Given the description of an element on the screen output the (x, y) to click on. 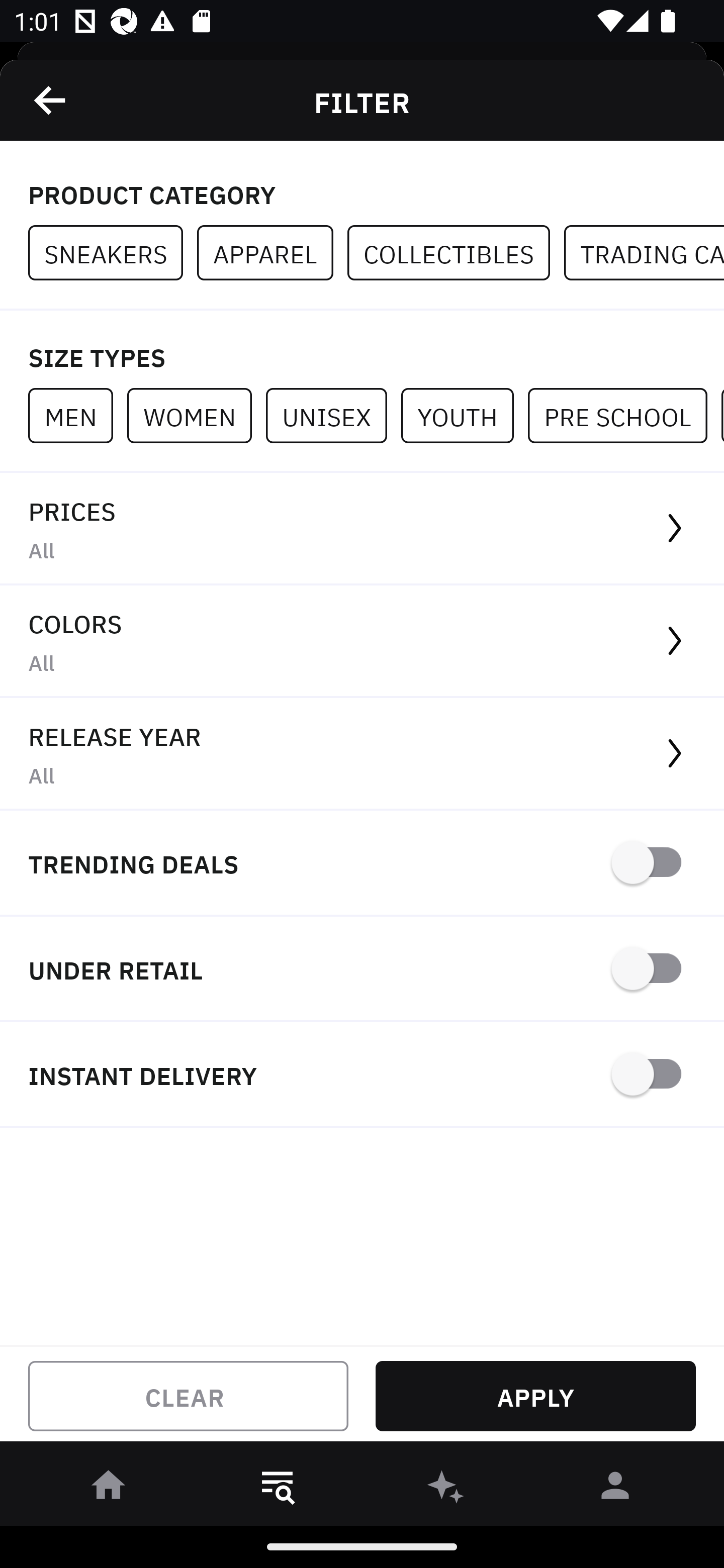
 (50, 100)
SNEAKERS (112, 252)
APPAREL (271, 252)
COLLECTIBLES (455, 252)
TRADING CARDS (643, 252)
MEN (77, 415)
WOMEN (196, 415)
UNISEX (333, 415)
YOUTH (464, 415)
PRE SCHOOL (624, 415)
PRICES All (362, 528)
COLORS All (362, 640)
RELEASE YEAR All (362, 753)
TRENDING DEALS (362, 863)
UNDER RETAIL (362, 969)
INSTANT DELIVERY (362, 1075)
CLEAR  (188, 1396)
APPLY (535, 1396)
󰋜 (108, 1488)
󱎸 (277, 1488)
󰫢 (446, 1488)
󰀄 (615, 1488)
